Given the description of an element on the screen output the (x, y) to click on. 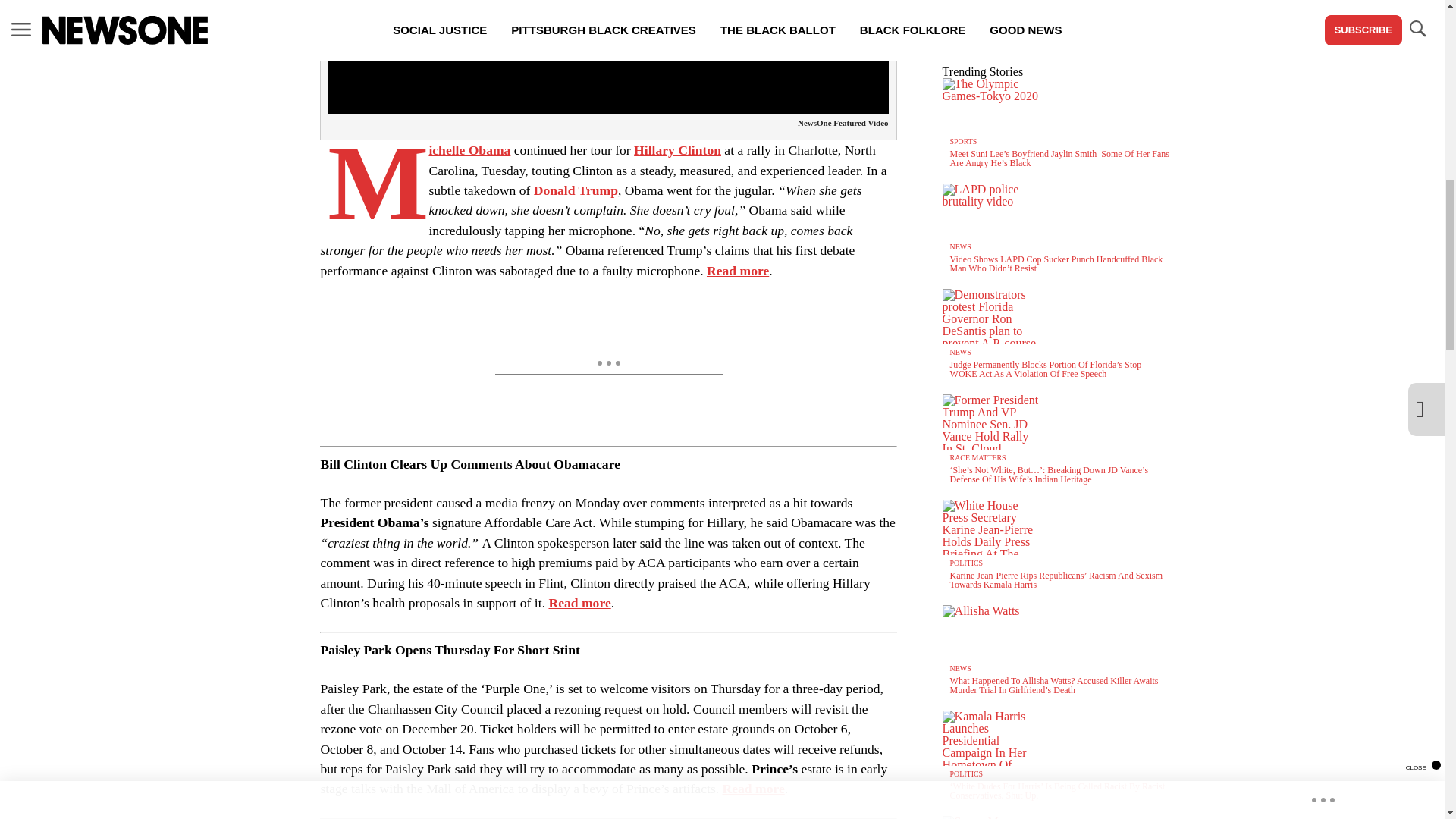
Hillary Clinton (676, 150)
Donald Trump (575, 190)
Read more (469, 150)
Read more (579, 602)
Read more (737, 270)
